Given the description of an element on the screen output the (x, y) to click on. 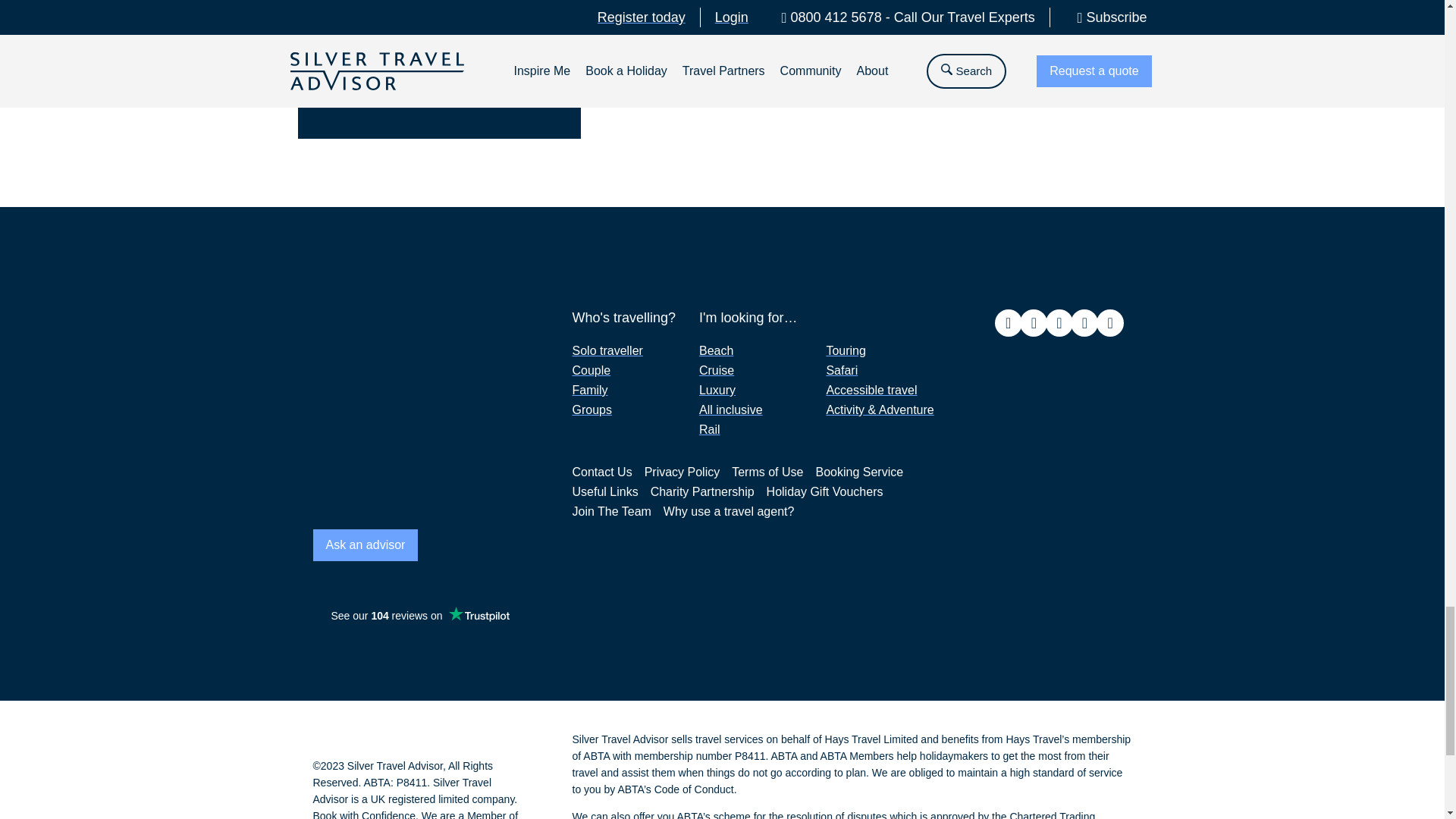
Customer reviews powered by Trustpilot (419, 615)
